Given the description of an element on the screen output the (x, y) to click on. 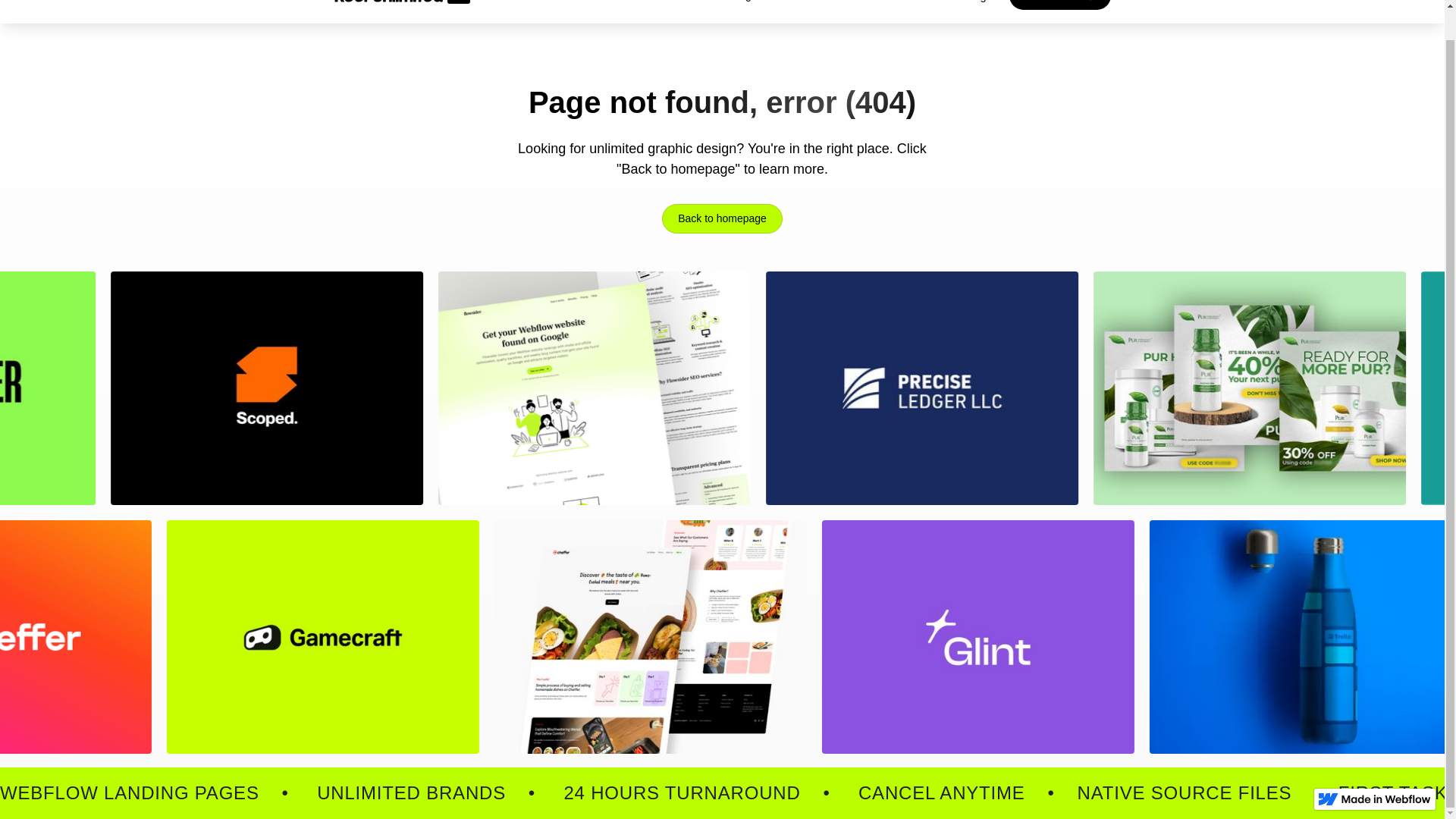
Back to homepage (722, 218)
Log in (982, 2)
Get started (1059, 4)
